Given the description of an element on the screen output the (x, y) to click on. 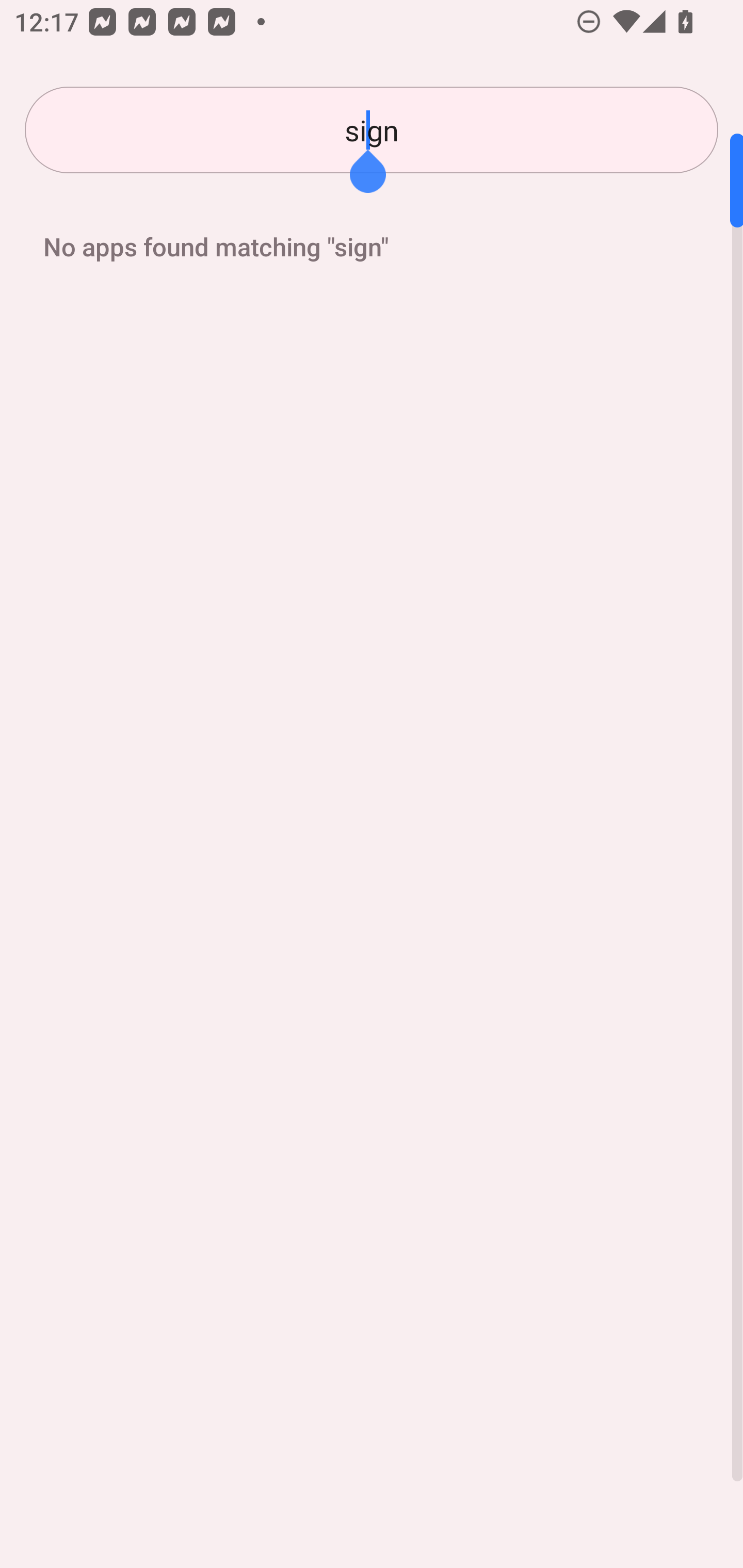
sign (371, 130)
